Given the description of an element on the screen output the (x, y) to click on. 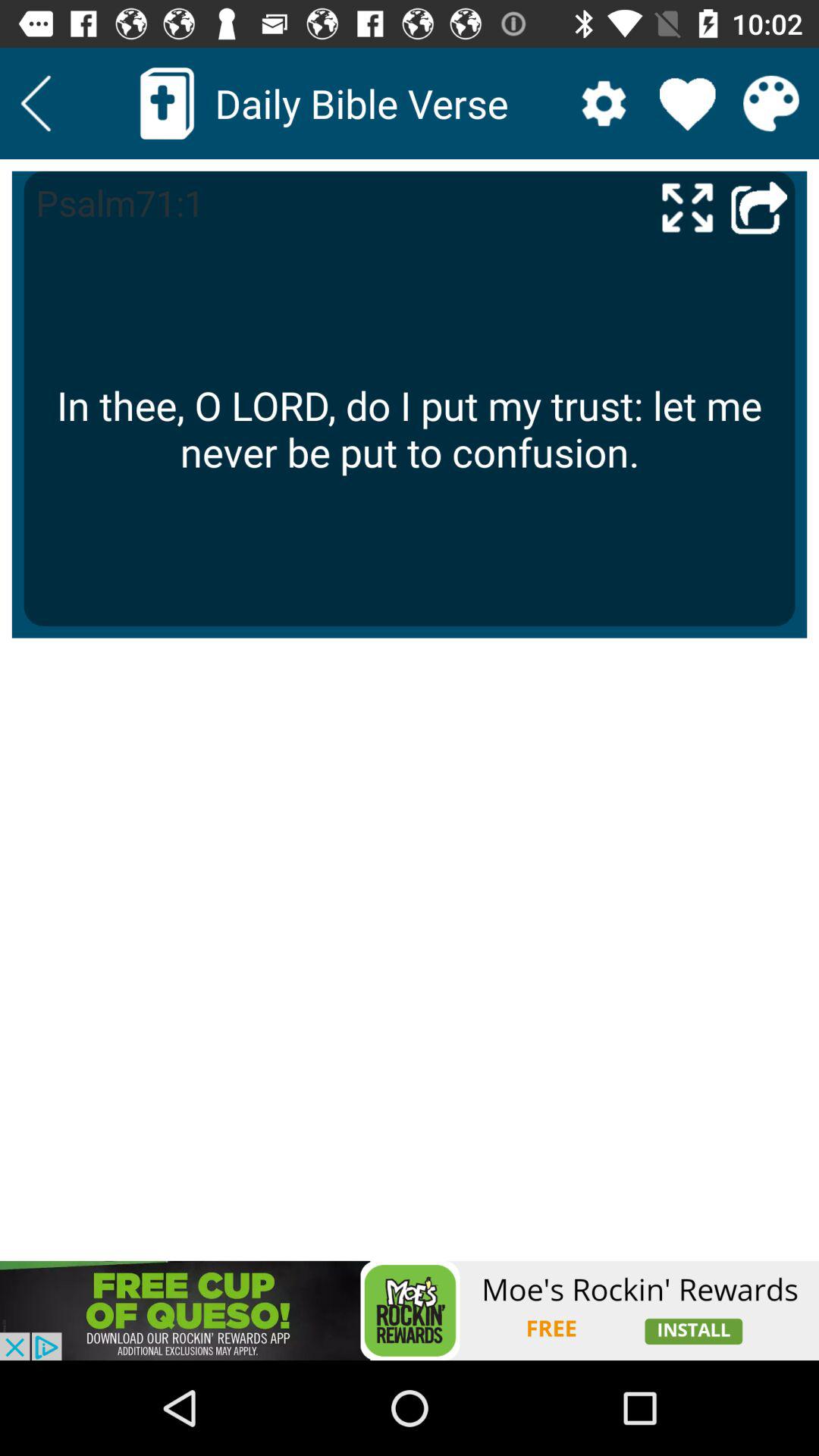
next page (759, 206)
